Given the description of an element on the screen output the (x, y) to click on. 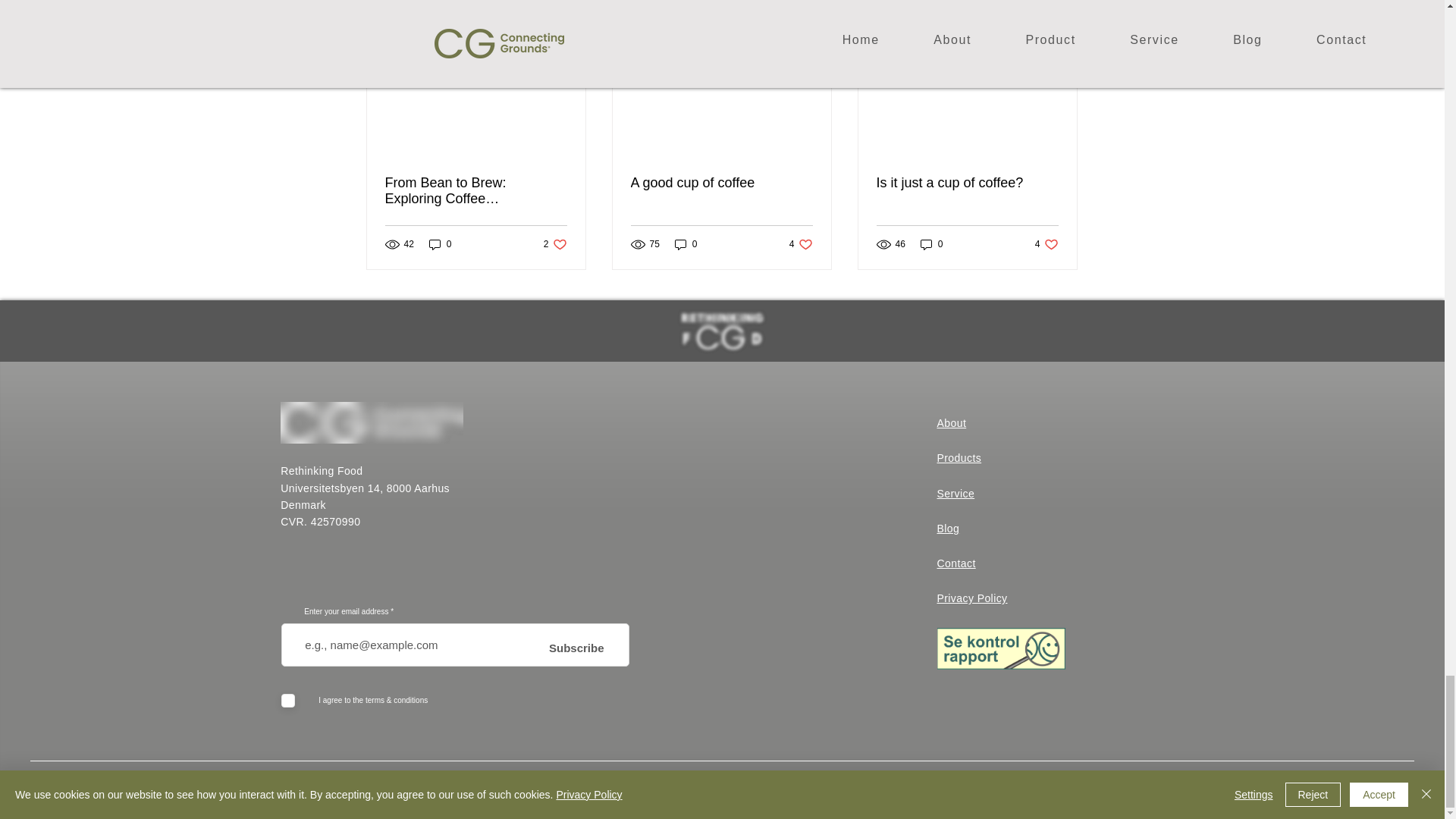
Is it just a cup of coffee? (967, 182)
Subscribe (800, 244)
Products (576, 647)
Service (959, 458)
About (956, 493)
green.png (951, 422)
Rethinking Food (1046, 244)
